Given the description of an element on the screen output the (x, y) to click on. 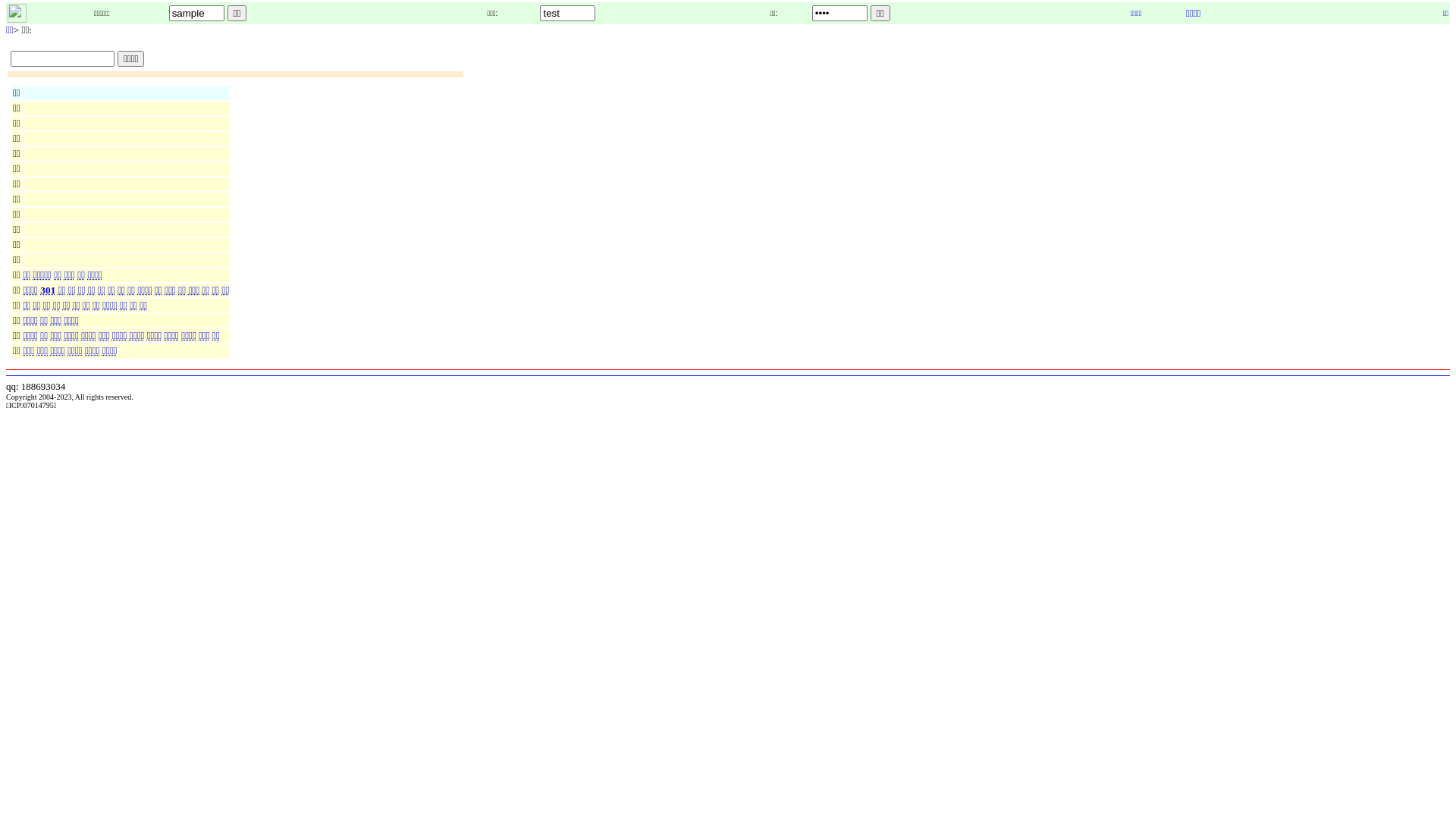
301 Element type: text (48, 289)
